Given the description of an element on the screen output the (x, y) to click on. 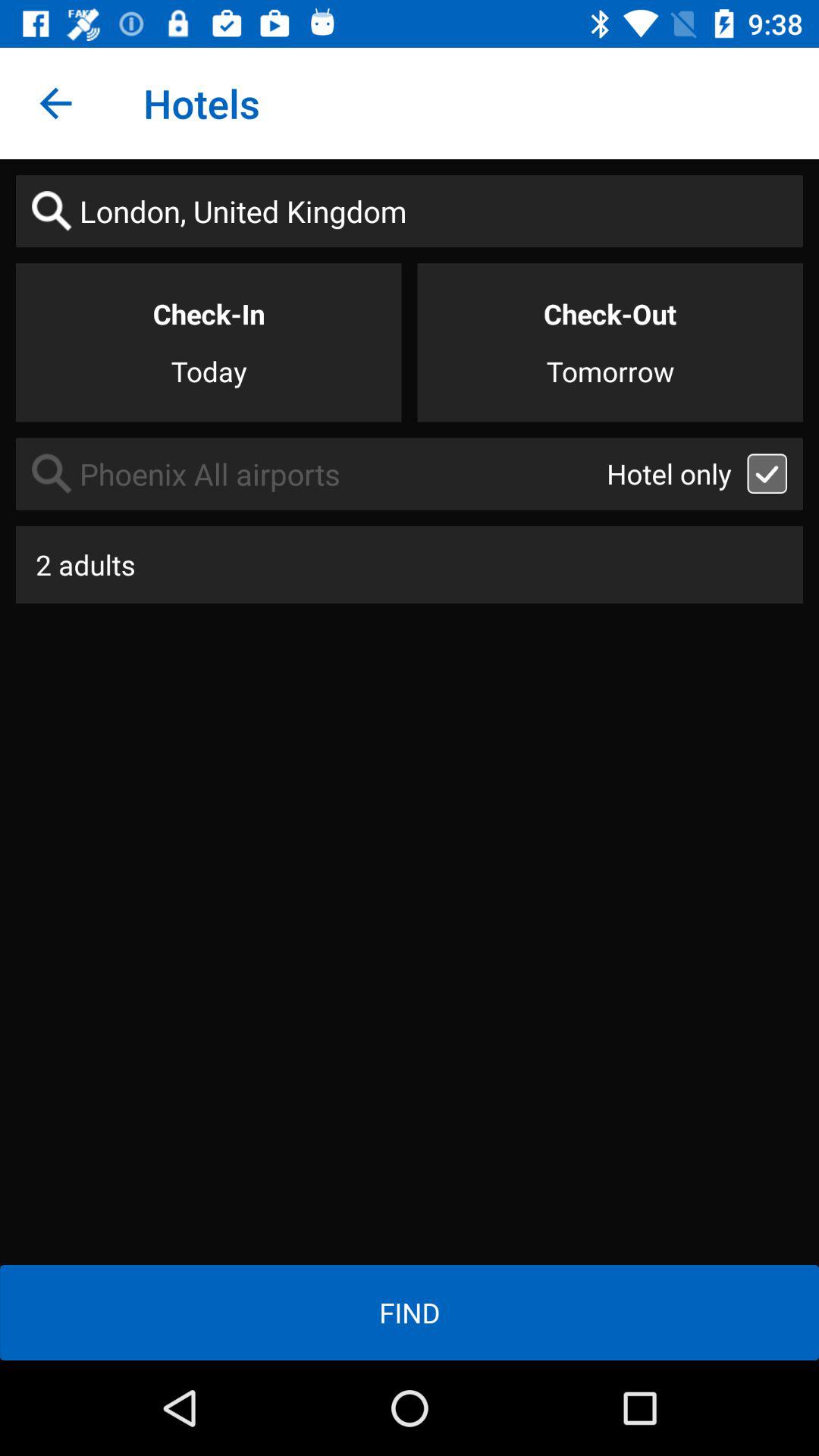
choose the phoenix all airports icon (310, 473)
